Given the description of an element on the screen output the (x, y) to click on. 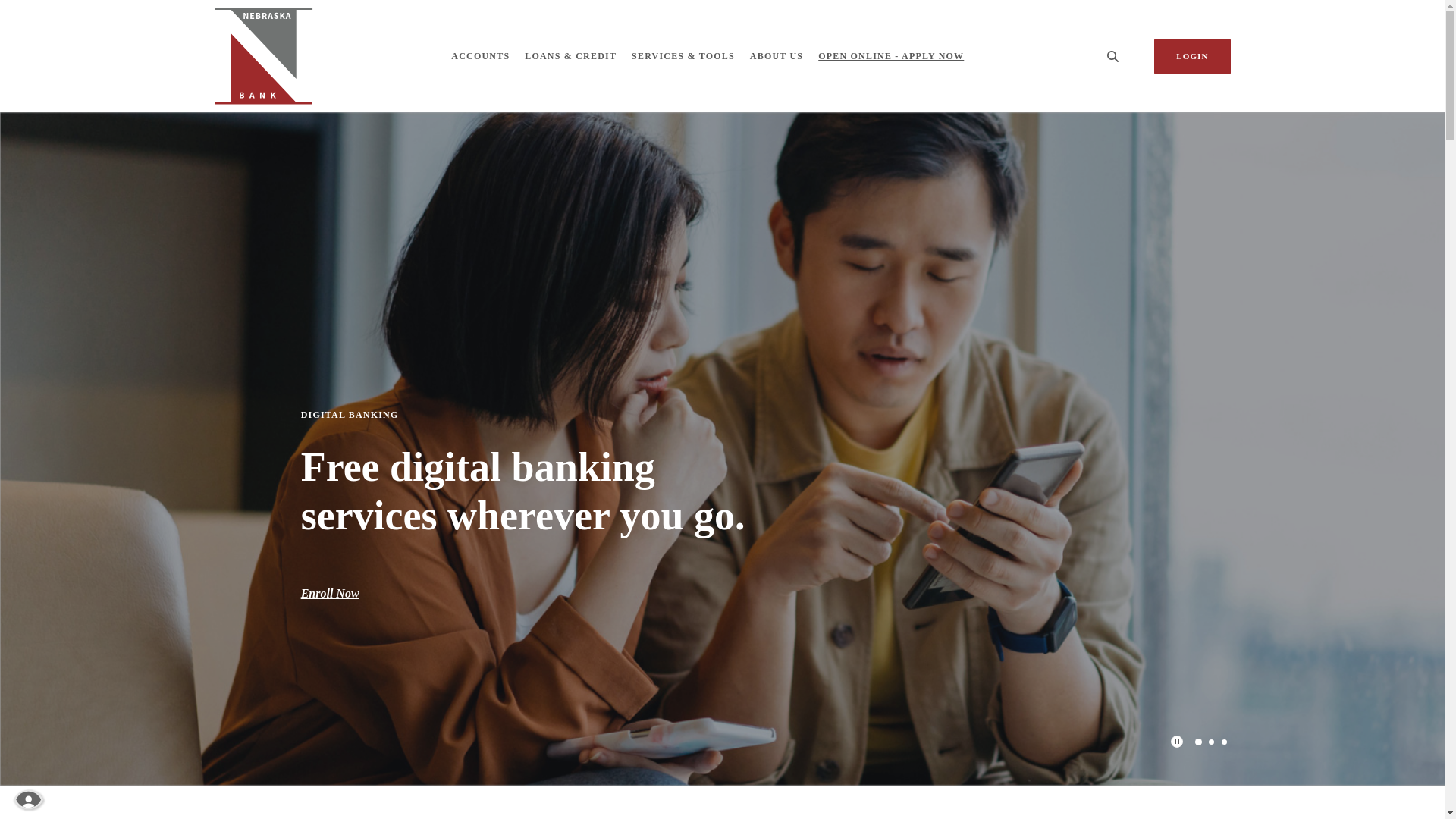
Play Main Slider/Pause Main Slider Element type: text (1176, 741)
1 Element type: text (1196, 740)
OPEN ONLINE - APPLY NOW
(OPENS IN A NEW WINDOW) Element type: text (890, 56)
3 Element type: text (1223, 741)
Nebraska Bank, Dodge, NE Element type: hover (262, 55)
LOGIN Element type: text (1192, 56)
Enroll Now
(Opens in a new Window) Element type: text (330, 592)
2 Element type: text (1211, 741)
